Given the description of an element on the screen output the (x, y) to click on. 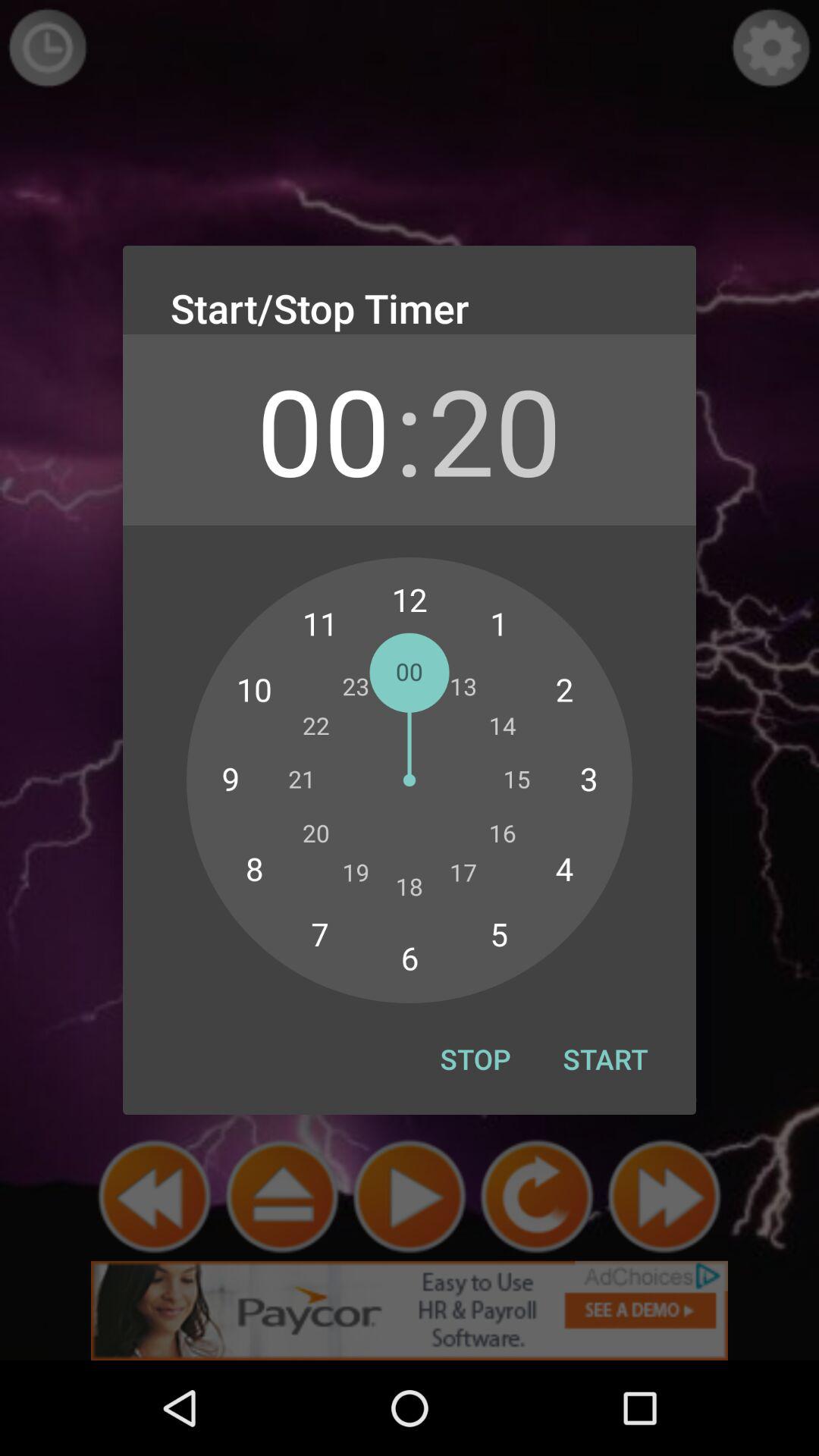
flip until 20 item (494, 429)
